Given the description of an element on the screen output the (x, y) to click on. 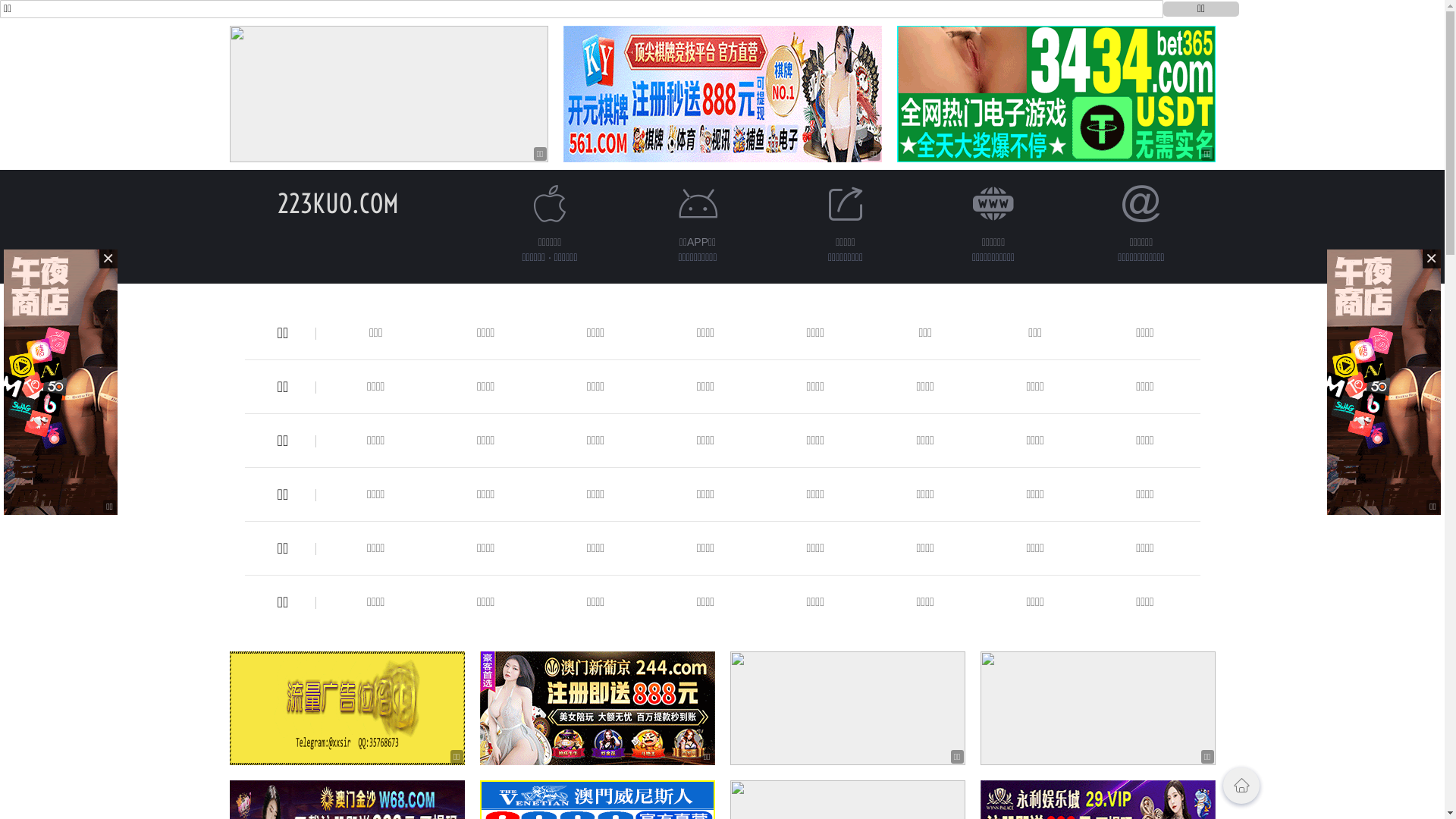
223KUO.COM Element type: text (337, 203)
